Given the description of an element on the screen output the (x, y) to click on. 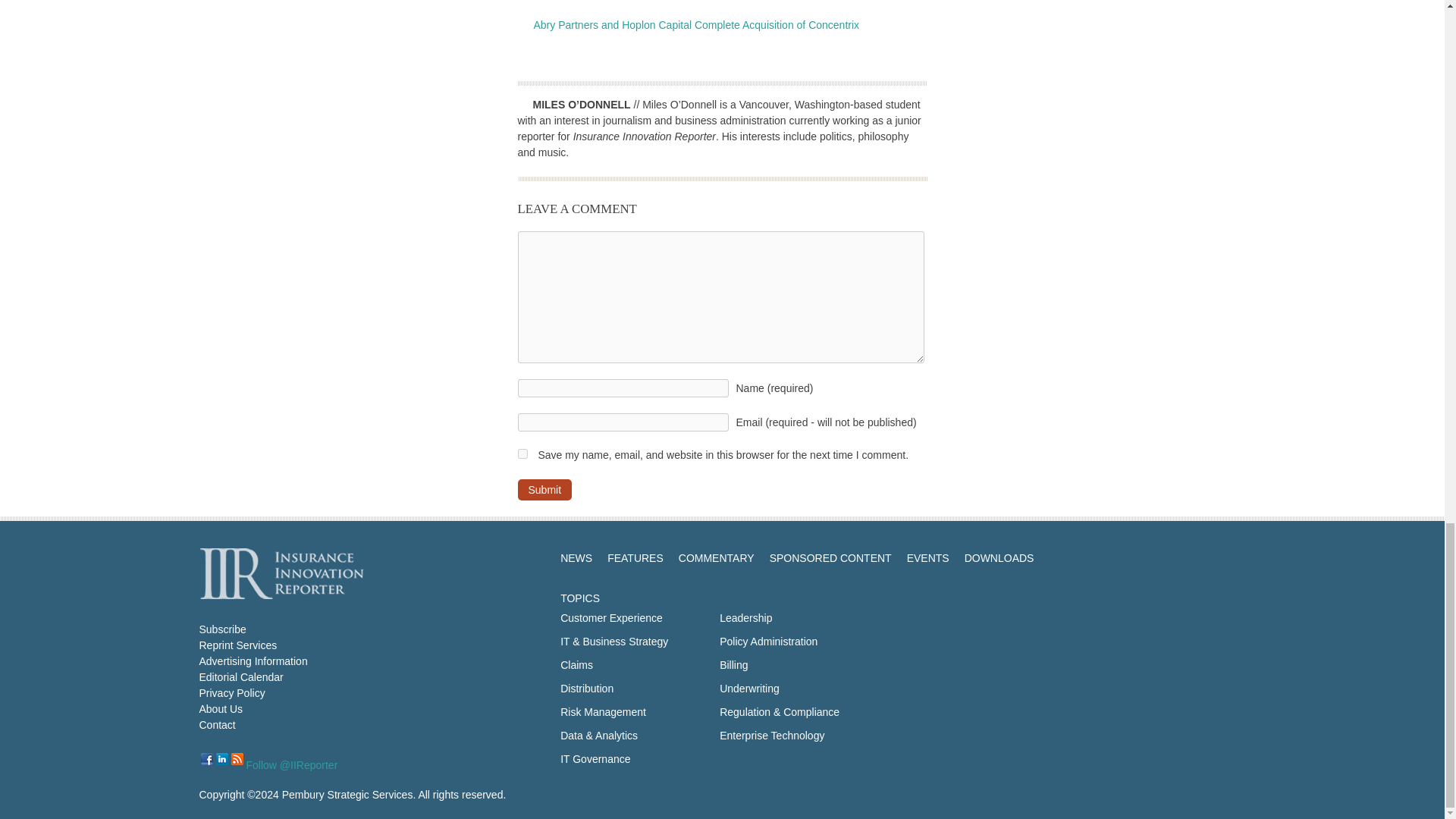
Subscribe (222, 629)
Reprint Services (237, 645)
Advertising Information (252, 661)
RSS Feed (236, 758)
Submit (544, 489)
yes (521, 453)
Friend me on Facebook (206, 758)
Follow my company on LinkedIn (221, 758)
Privacy Policy (231, 693)
Submit (544, 489)
